Given the description of an element on the screen output the (x, y) to click on. 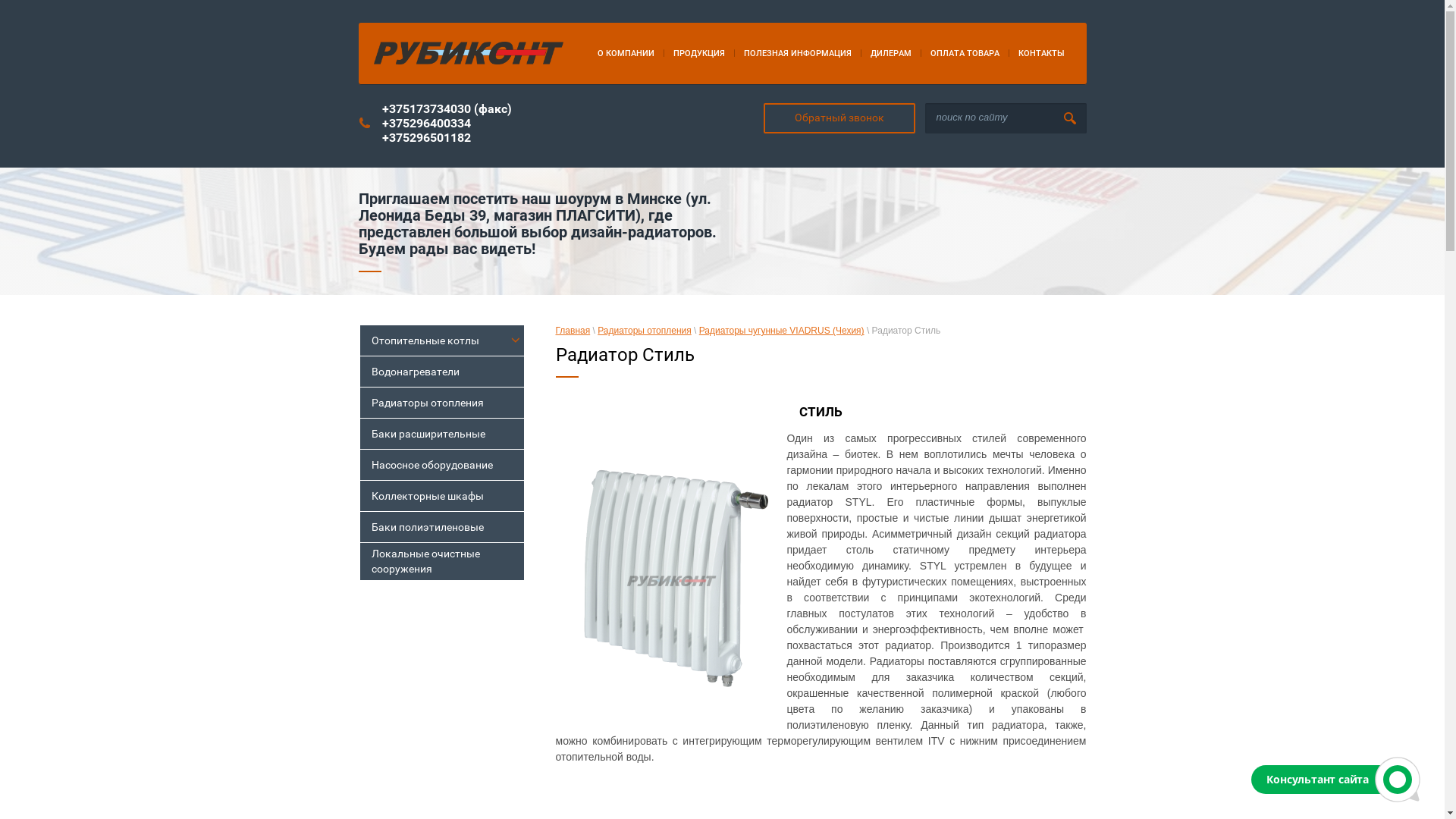
+375296501182 Element type: text (426, 137)
+375296400334 Element type: text (426, 123)
